Given the description of an element on the screen output the (x, y) to click on. 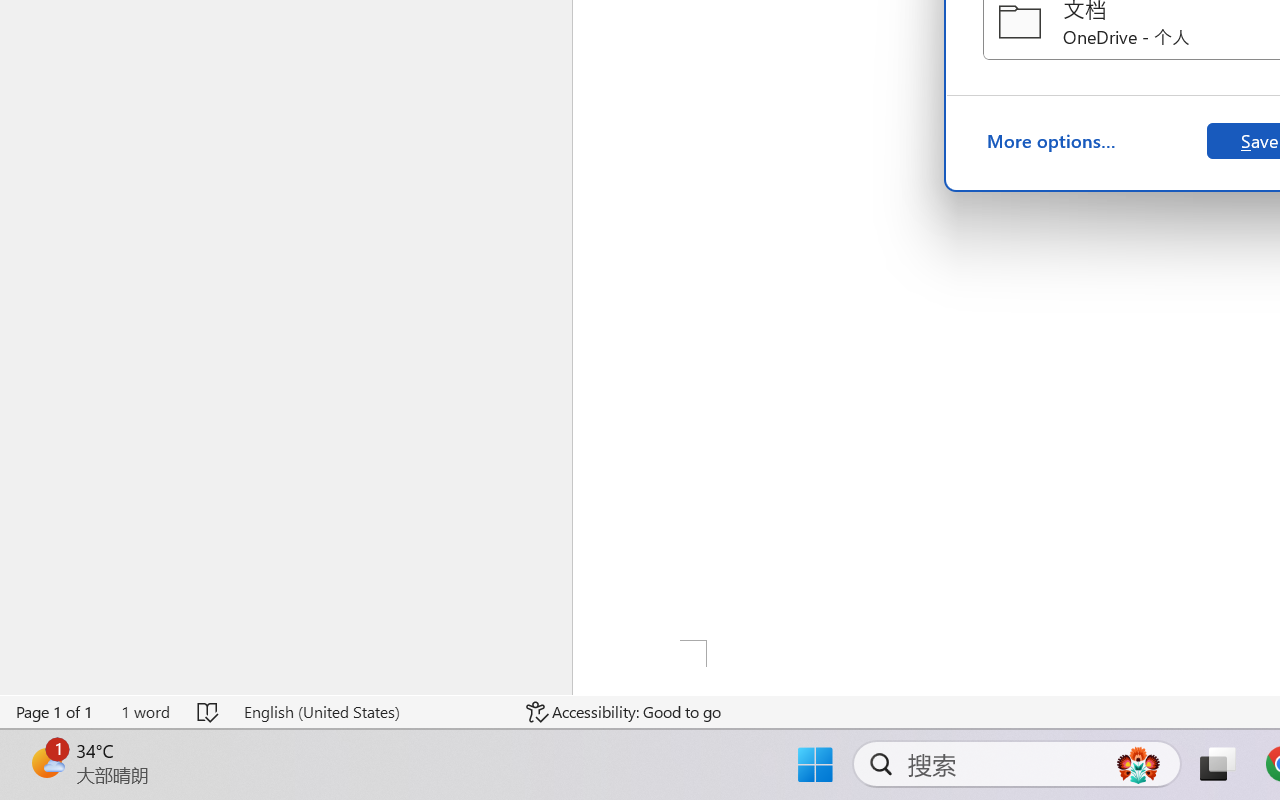
Language English (United States) (370, 712)
AutomationID: BadgeAnchorLargeTicker (46, 762)
Word Count 1 word (145, 712)
Spelling and Grammar Check No Errors (208, 712)
Page Number Page 1 of 1 (55, 712)
AutomationID: DynamicSearchBoxGleamImage (1138, 764)
Accessibility Checker Accessibility: Good to go (623, 712)
